Given the description of an element on the screen output the (x, y) to click on. 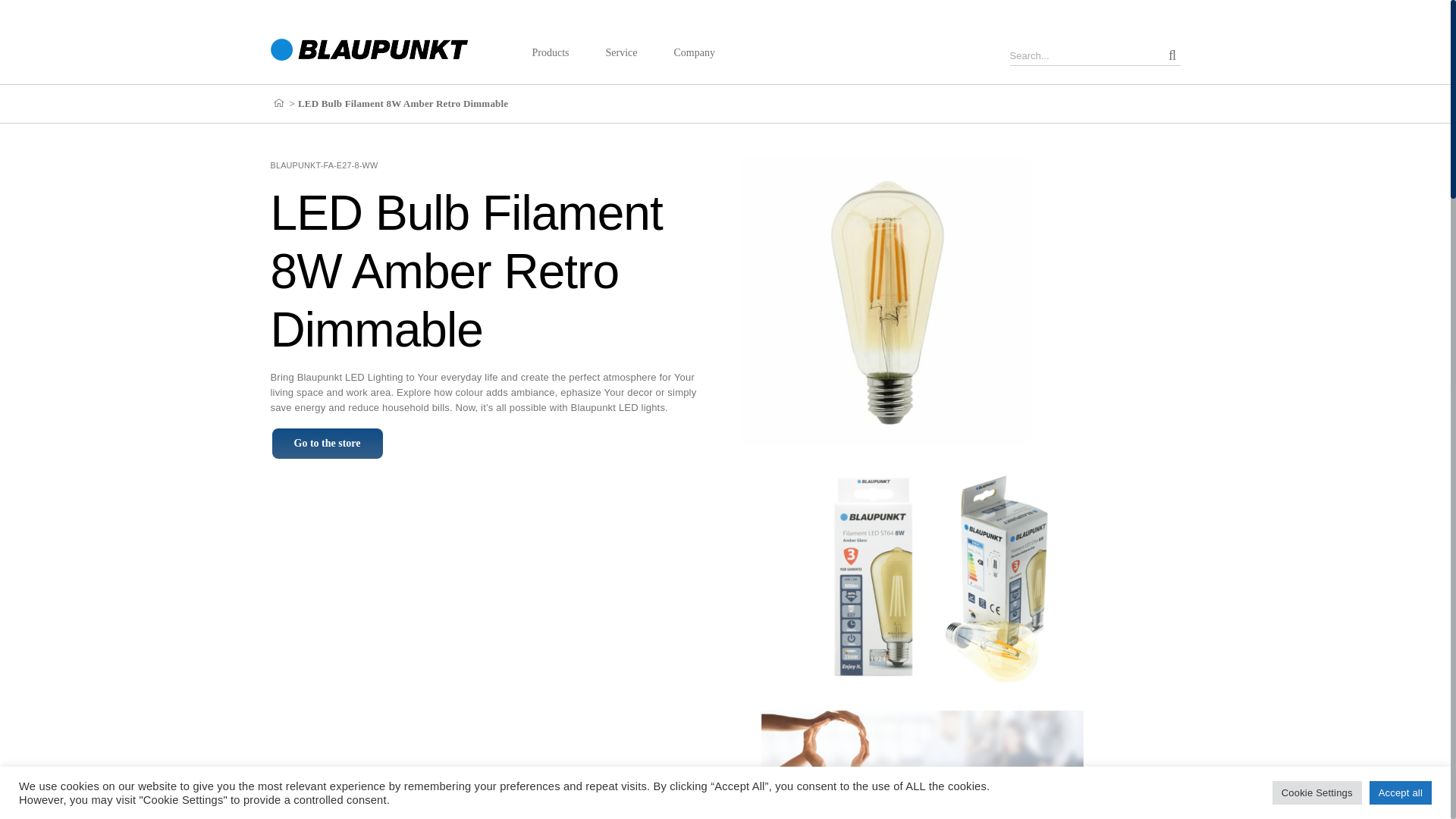
Products (550, 53)
